Given the description of an element on the screen output the (x, y) to click on. 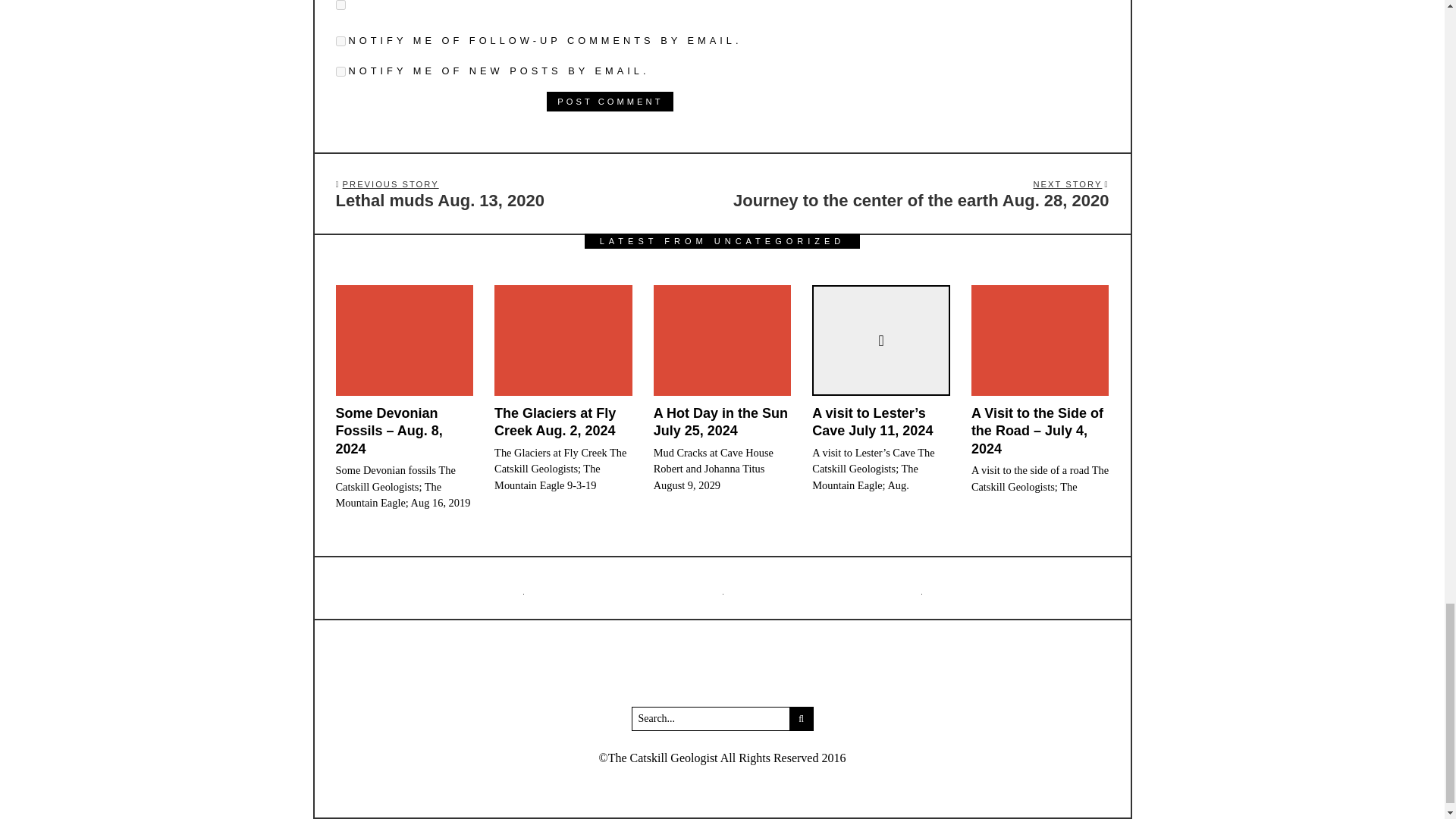
yes (339, 4)
subscribe (339, 40)
Post Comment (609, 101)
Post Comment (523, 194)
subscribe (609, 101)
